Given the description of an element on the screen output the (x, y) to click on. 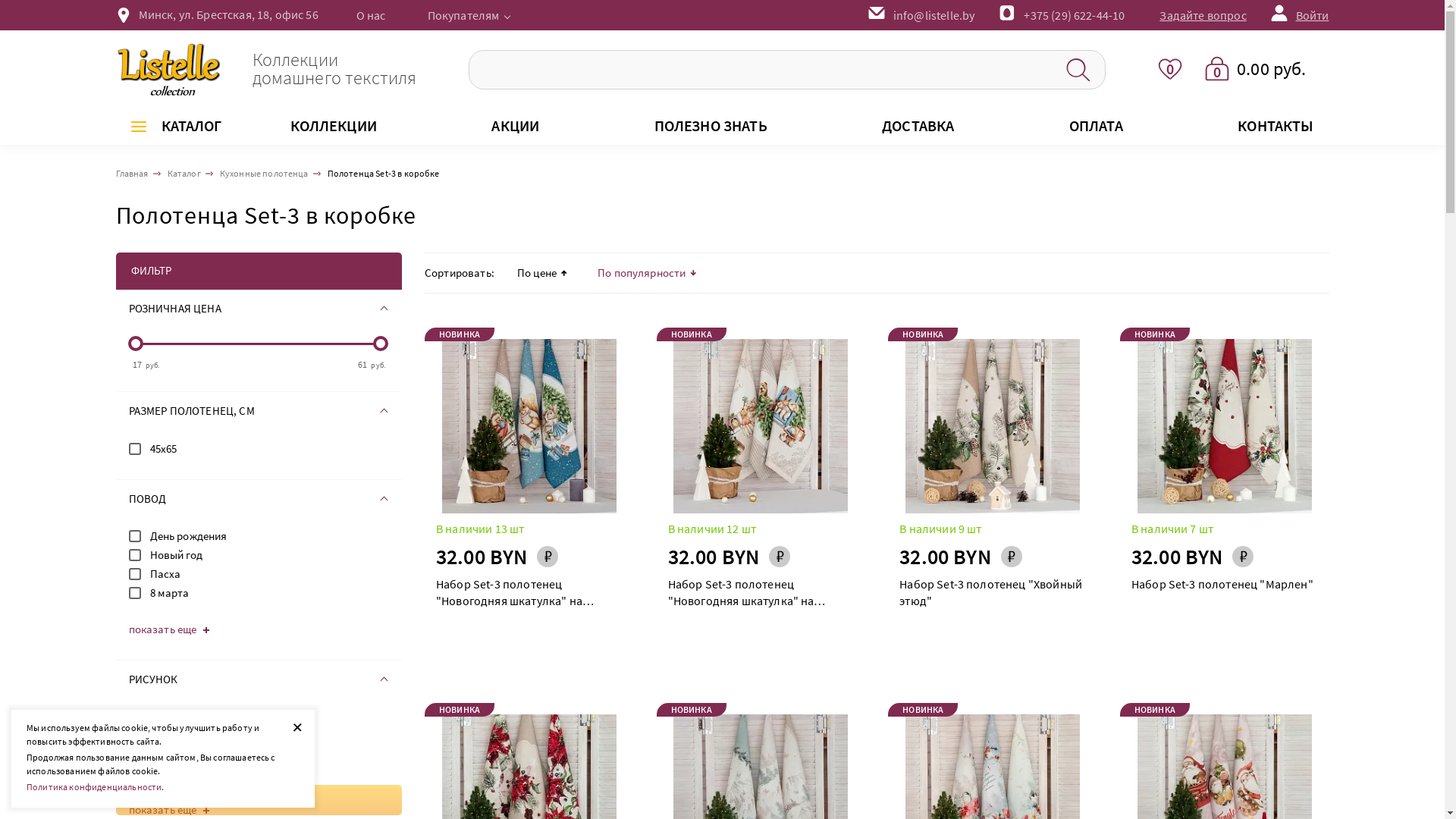
+375 (29) 622-44-10 Element type: text (1079, 15)
0 Element type: text (1169, 68)
info@listelle.by Element type: text (921, 14)
